Given the description of an element on the screen output the (x, y) to click on. 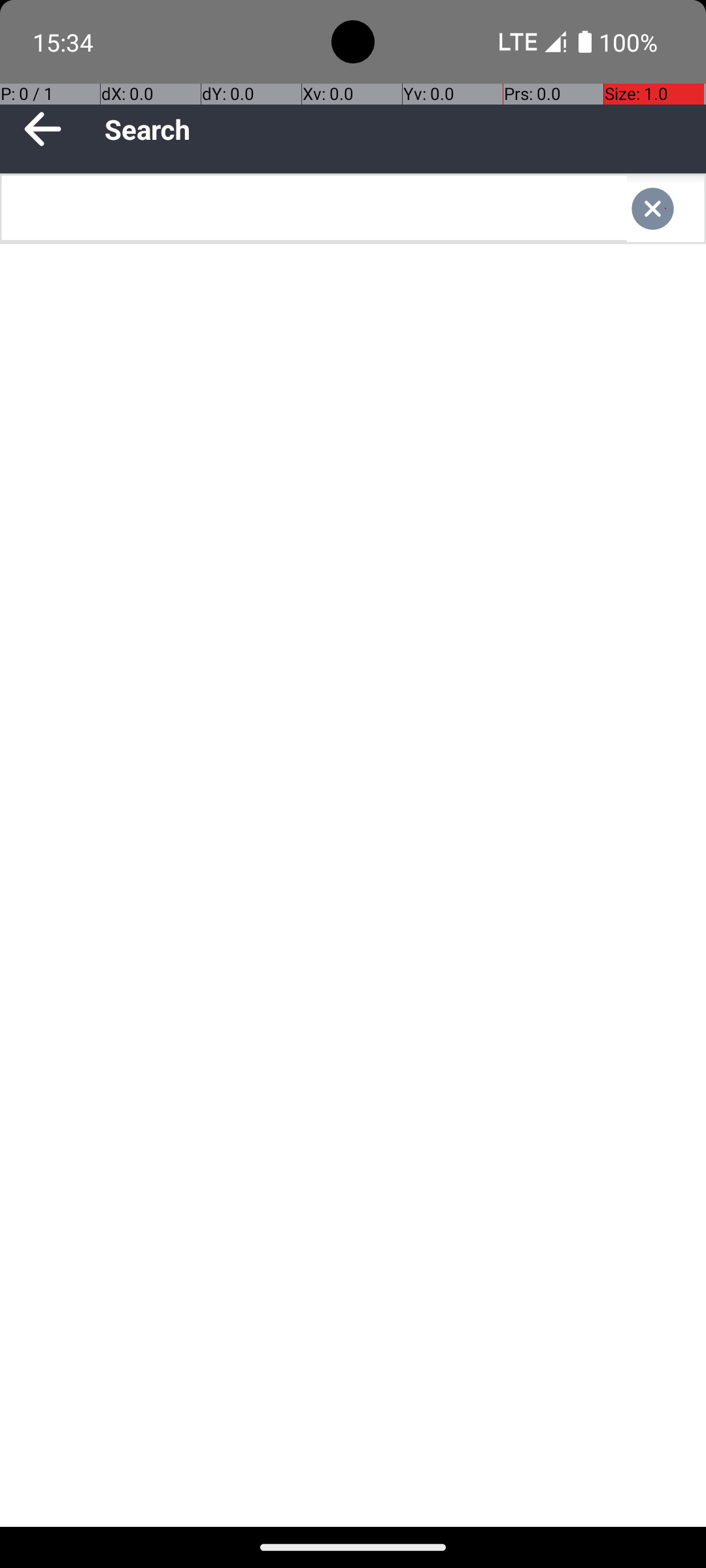
 Element type: android.widget.TextView (665, 208)
